Given the description of an element on the screen output the (x, y) to click on. 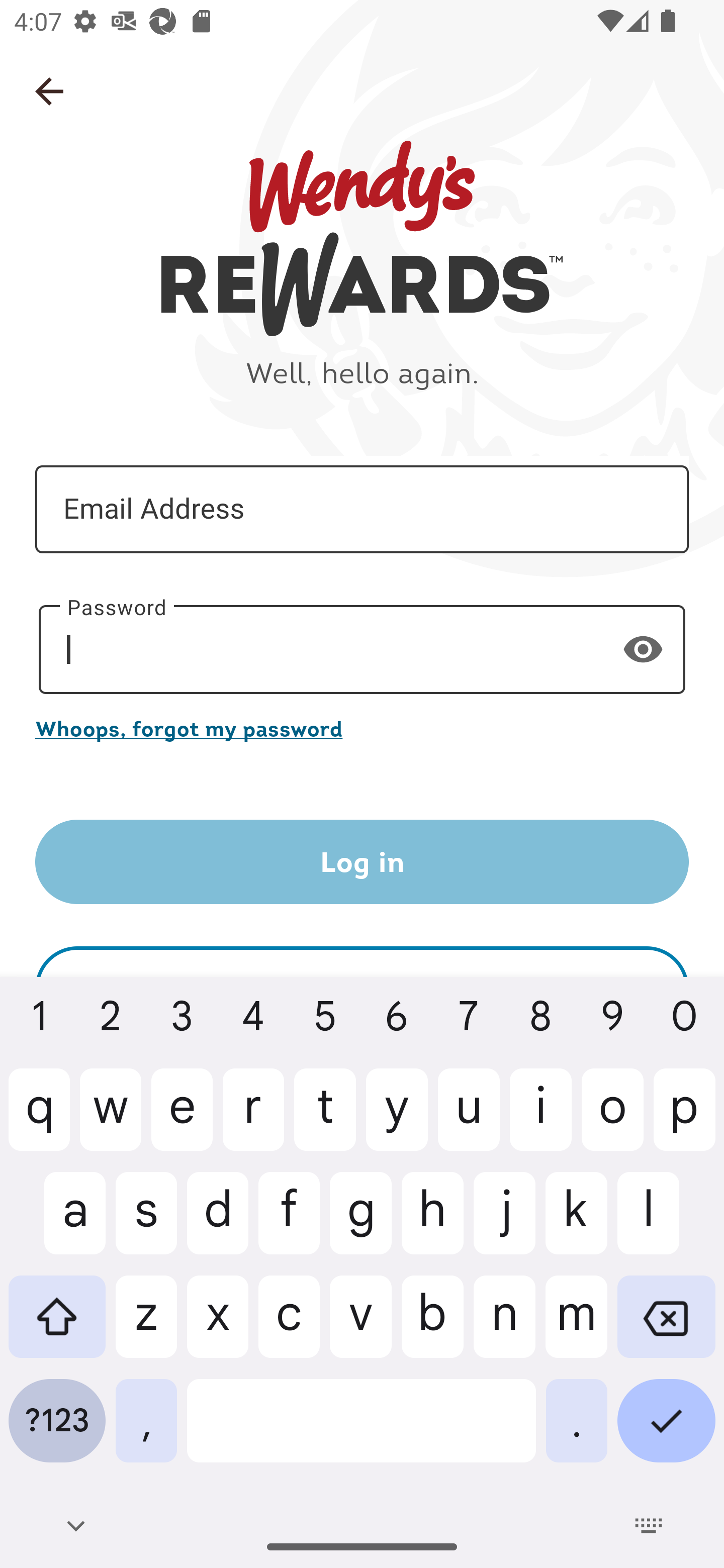
Navigate up (49, 91)
Email Address (361, 509)
Password (361, 649)
Show password (642, 648)
Whoops, forgot my password (361, 728)
Log in (361, 862)
